Given the description of an element on the screen output the (x, y) to click on. 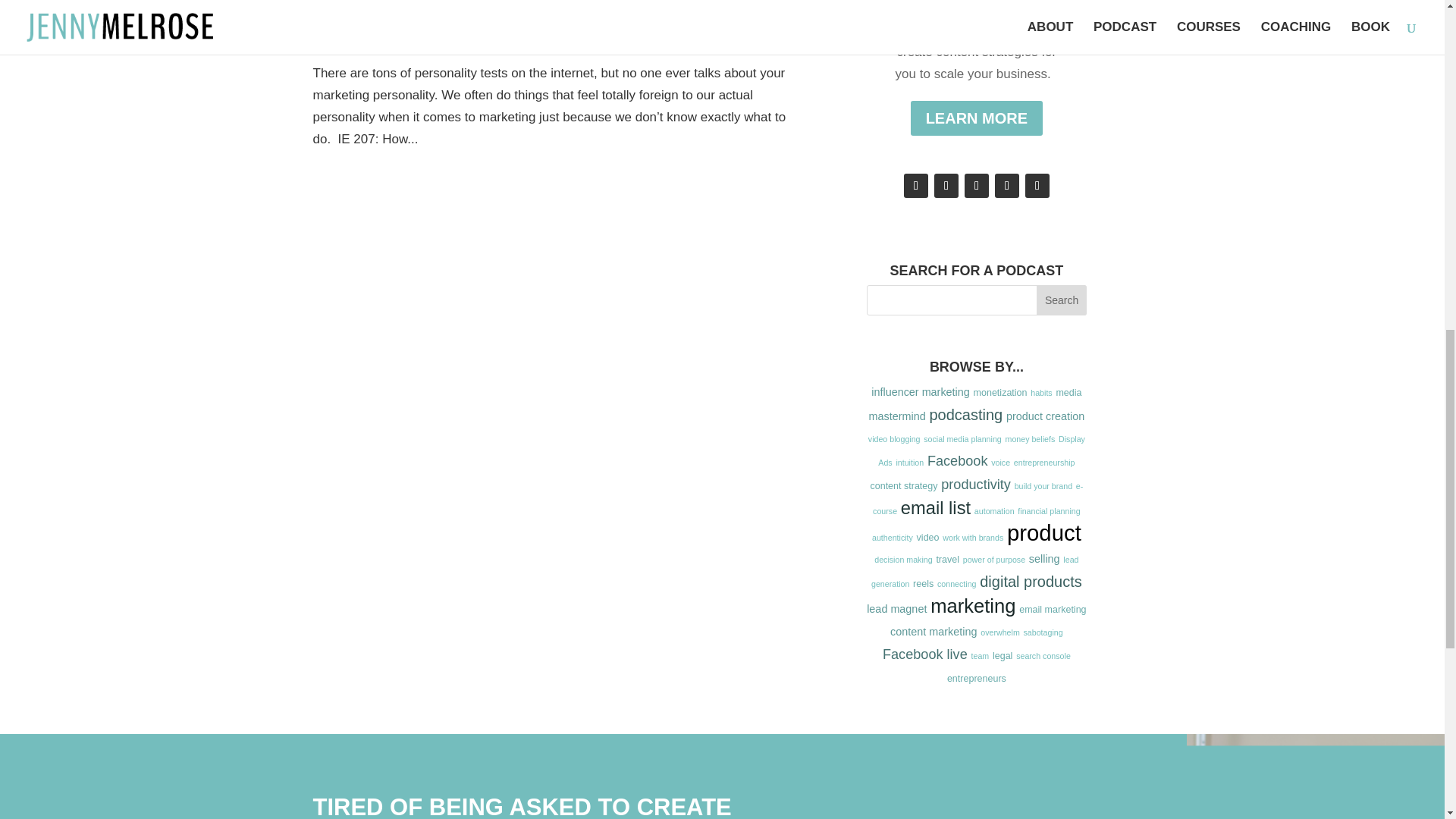
3 topics (919, 391)
Follow on Facebook (916, 185)
voice (1000, 461)
mastermind (897, 416)
Display Ads (980, 450)
3 topics (897, 416)
productivity (975, 484)
Search (1061, 300)
Follow on Instagram (946, 185)
entrepreneurship (1044, 461)
